Given the description of an element on the screen output the (x, y) to click on. 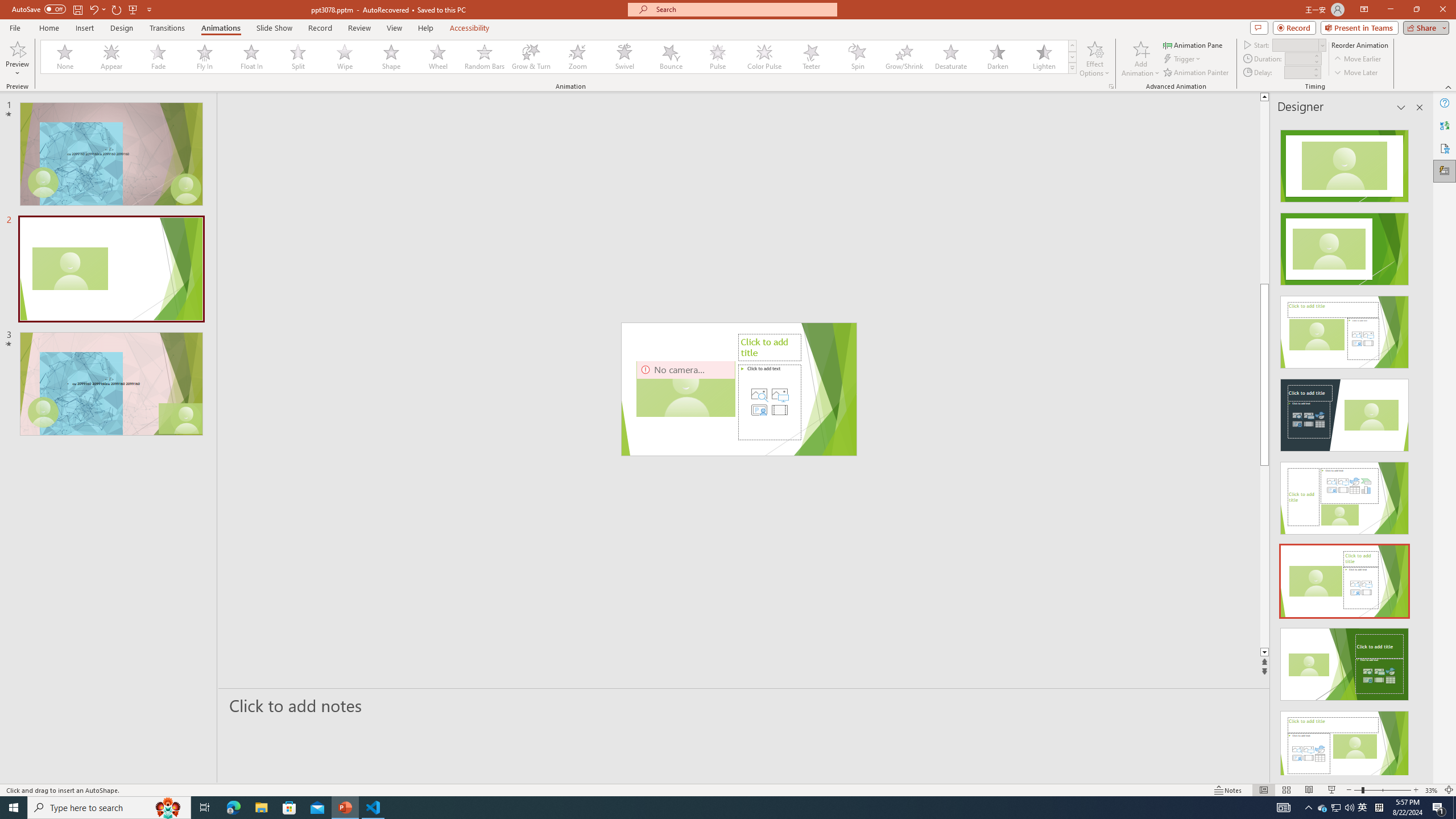
Bounce (670, 56)
Pulse (717, 56)
Desaturate (950, 56)
